Given the description of an element on the screen output the (x, y) to click on. 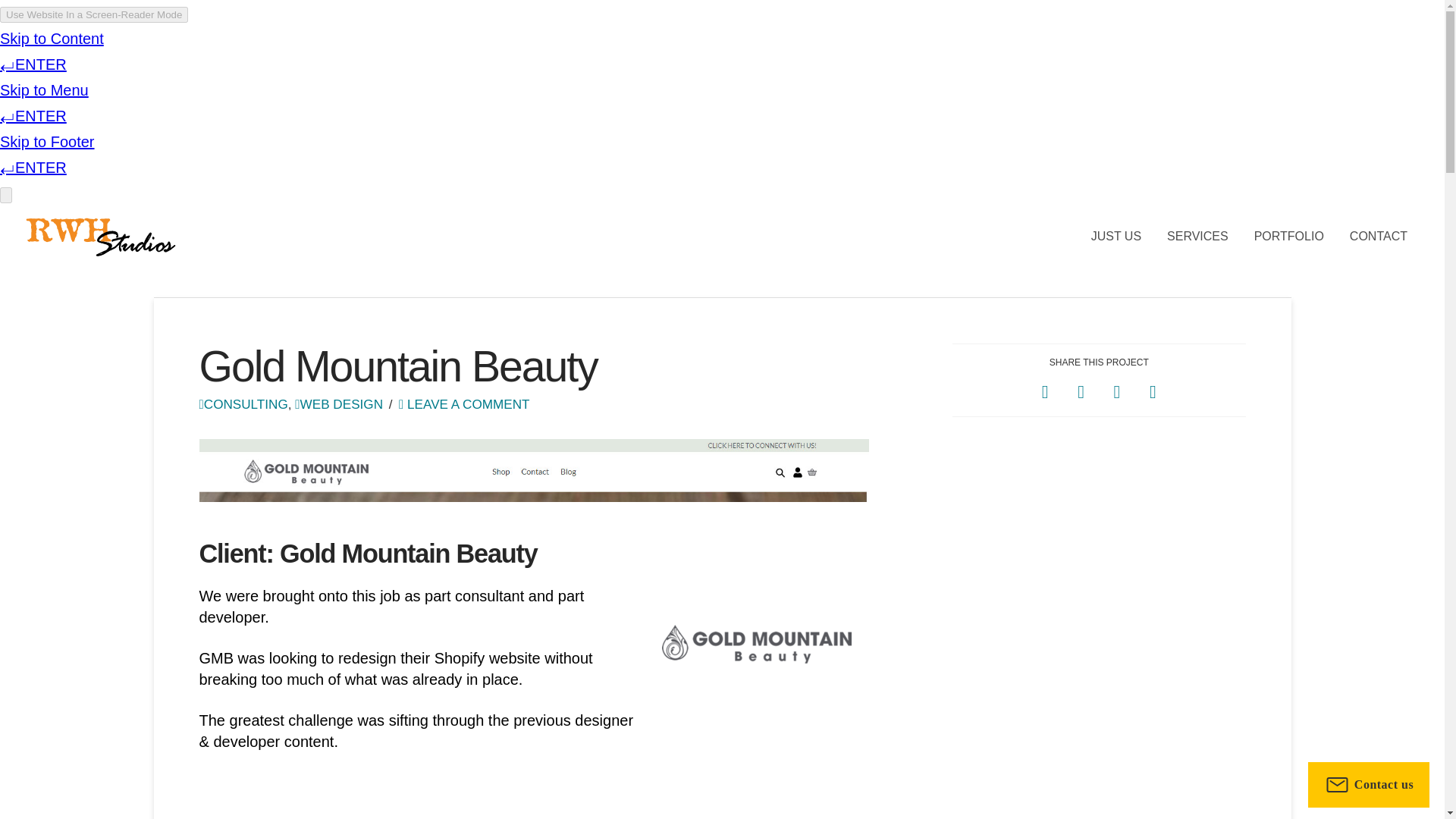
PORTFOLIO (1288, 236)
JUST US (1116, 236)
CONSULTING (242, 403)
WEB DESIGN (338, 403)
SERVICES (1197, 236)
CONTACT (1378, 236)
LEAVE A COMMENT (463, 403)
